Given the description of an element on the screen output the (x, y) to click on. 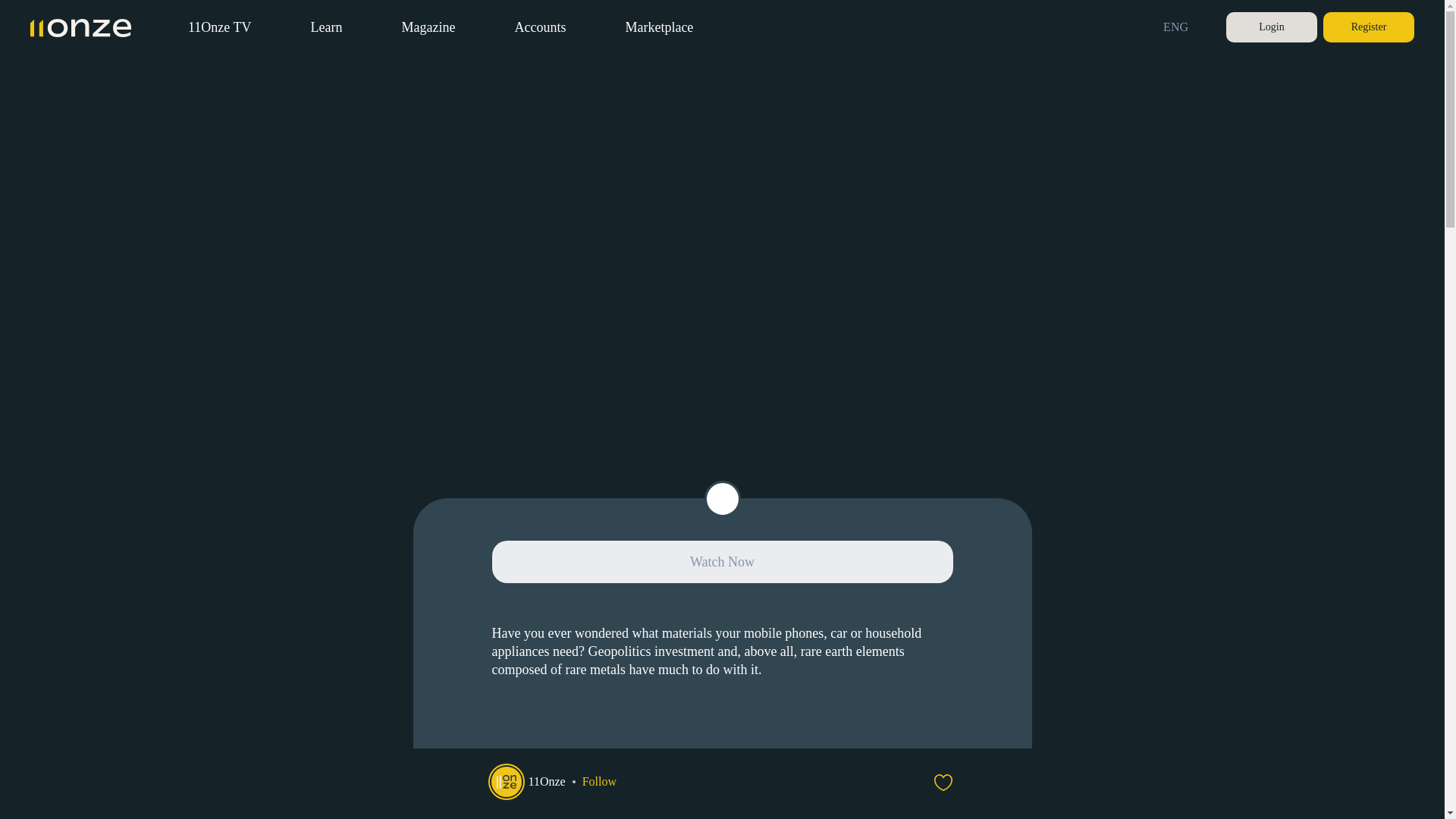
Like (943, 782)
Magazine (427, 27)
Accounts (539, 27)
11Onze TV (218, 27)
Learn (326, 27)
Register (1368, 27)
Marketplace (658, 27)
Login (1271, 27)
ENG (1180, 26)
